Given the description of an element on the screen output the (x, y) to click on. 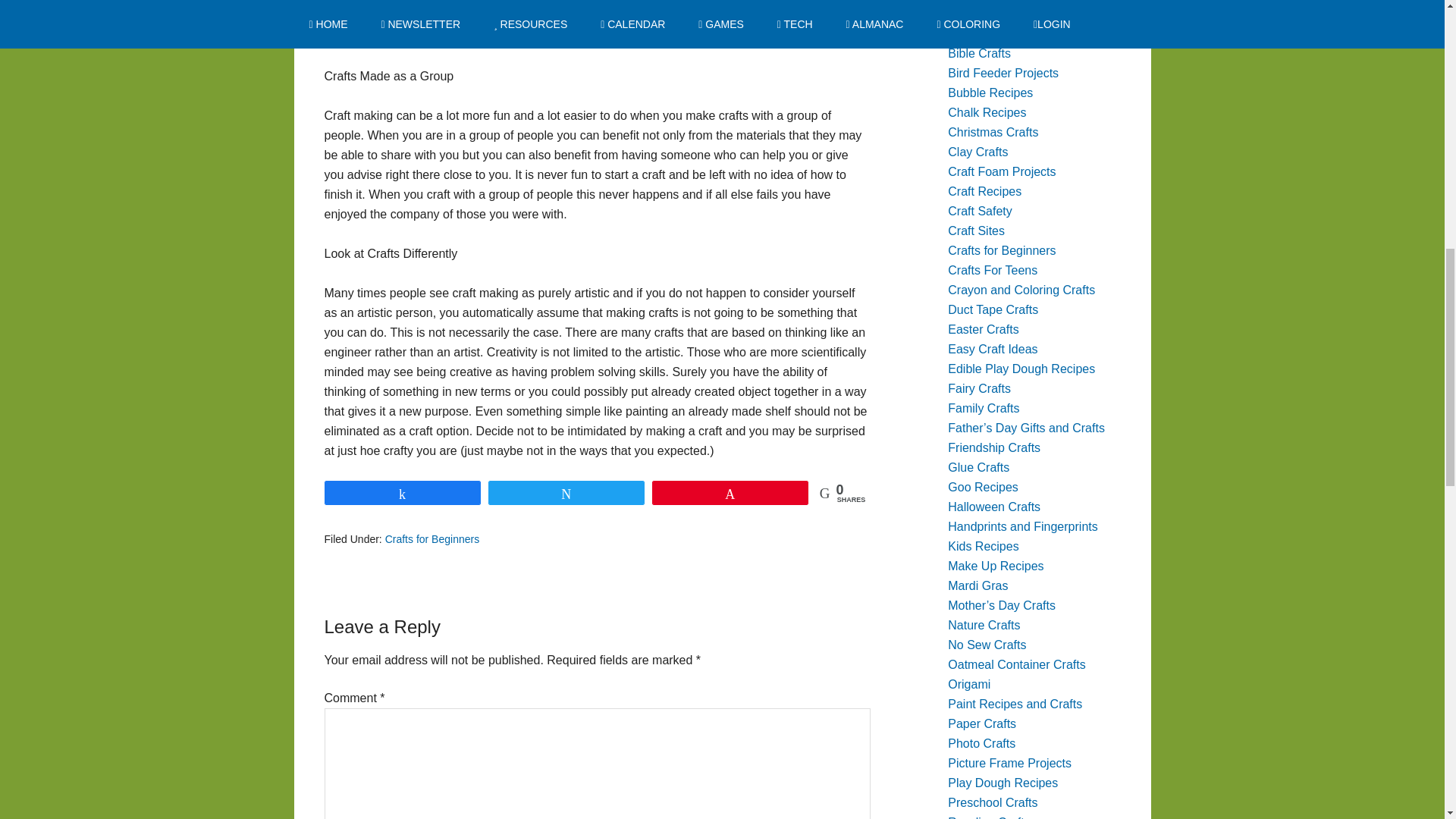
View all posts filed under Balloon Crafts (986, 33)
View all posts filed under Apple Crafts (980, 0)
View all posts filed under Bubble Recipes (989, 92)
View all posts filed under Clay Crafts (977, 151)
View all posts filed under Christmas Crafts (992, 132)
View all posts filed under Bible Crafts (978, 52)
View all posts filed under Chalk Recipes (986, 112)
View all posts filed under Craft Foam Projects (1001, 171)
View all posts filed under Back To School Crafts (1007, 13)
View all posts filed under Bird Feeder Projects (1002, 72)
